Given the description of an element on the screen output the (x, y) to click on. 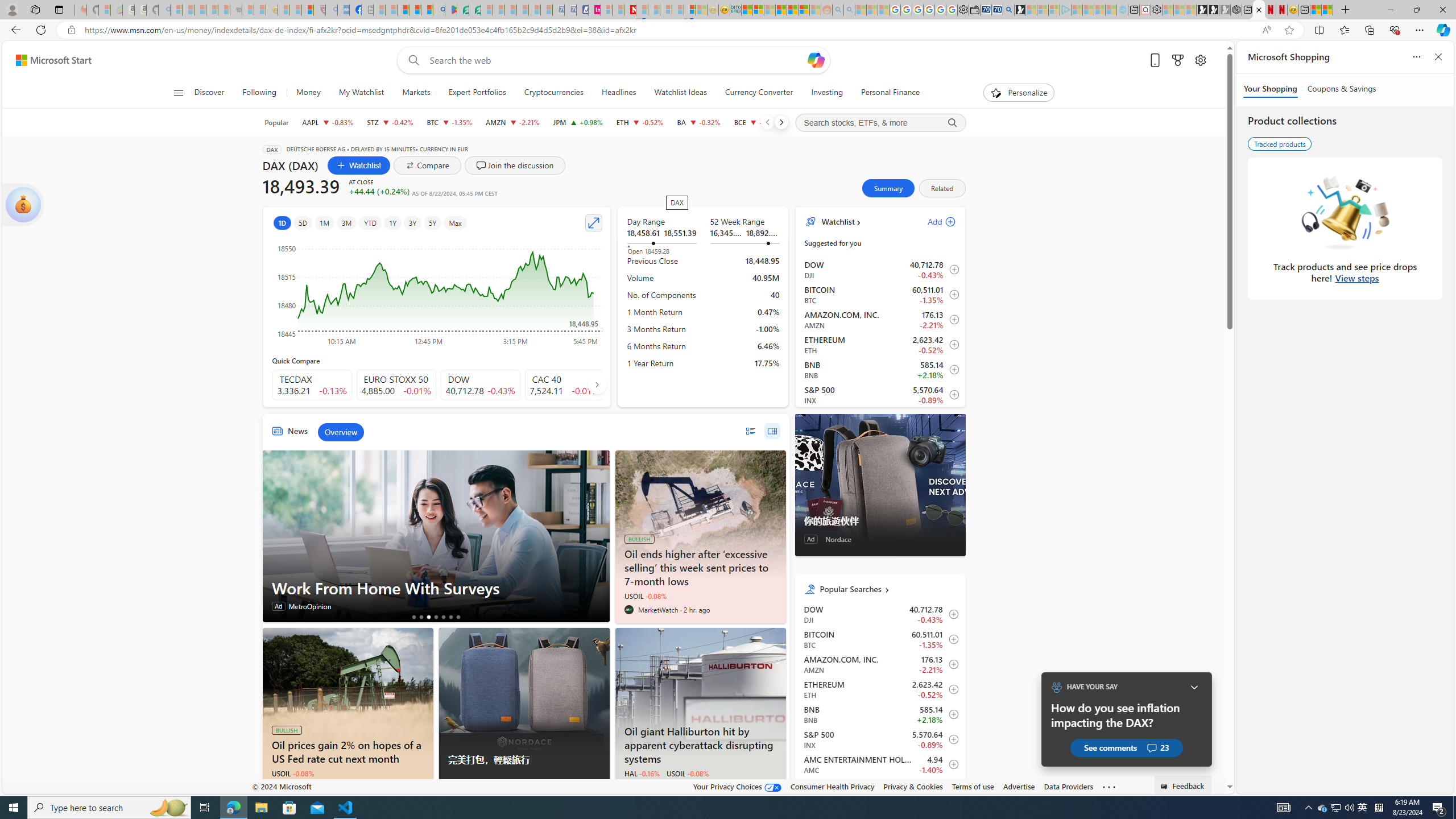
Cryptocurrencies (553, 92)
Class: oneFooter_seeMore-DS-EntryPoint1-1 (1108, 786)
1Y (391, 223)
Related (941, 188)
show card (22, 204)
Compare (427, 165)
5Y (432, 223)
